Given the description of an element on the screen output the (x, y) to click on. 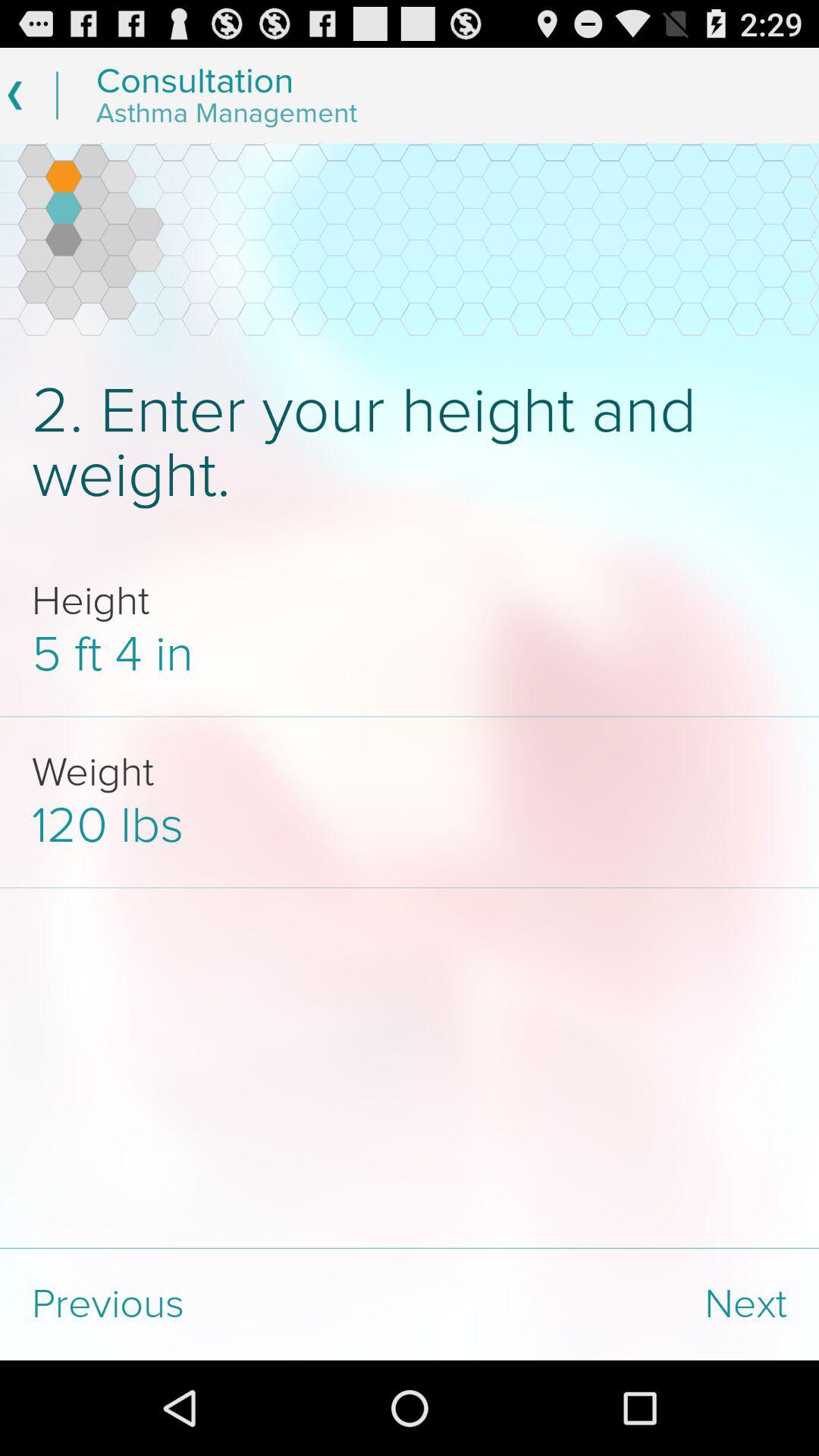
scroll to 2 enter your icon (409, 443)
